Given the description of an element on the screen output the (x, y) to click on. 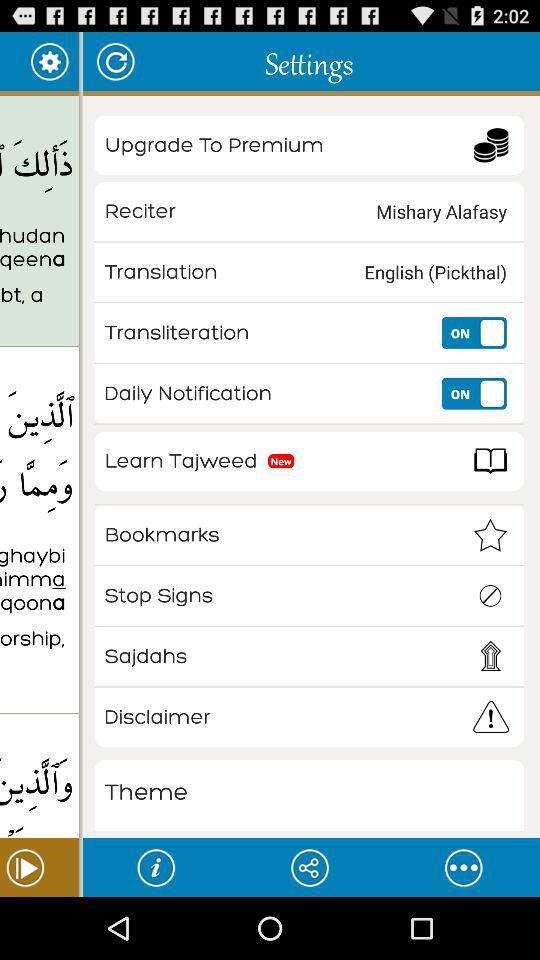
jump to the thalika alkitabu la app (39, 247)
